Given the description of an element on the screen output the (x, y) to click on. 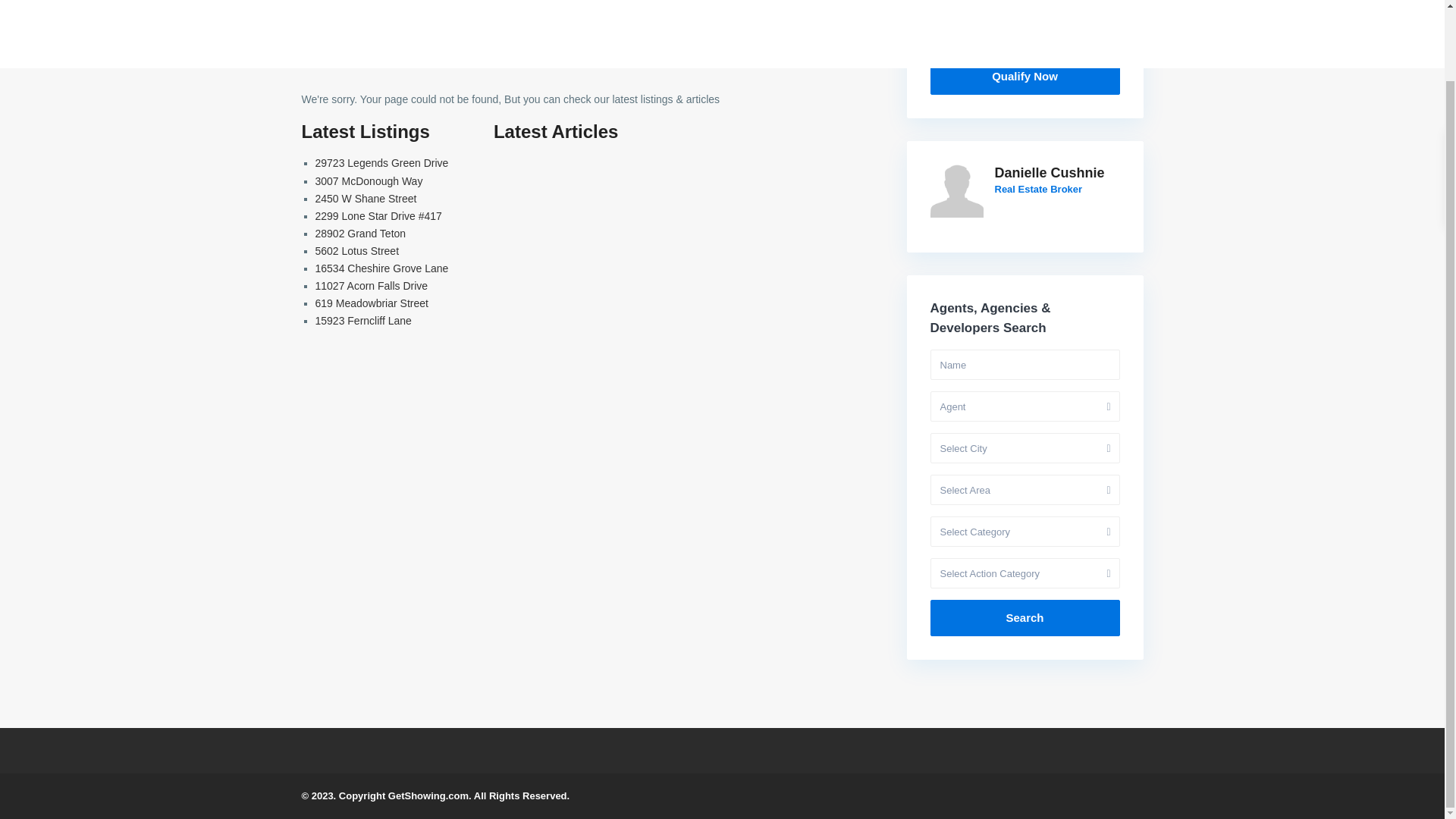
3007 McDonough Way (369, 181)
16534 Cheshire Grove Lane (381, 268)
619 Meadowbriar Street (371, 303)
28902 Grand Teton (360, 233)
29723 Legends Green Drive (381, 162)
5602 Lotus Street (356, 250)
15923 Ferncliff Lane (363, 320)
2450 W Shane Street (365, 198)
11027 Acorn Falls Drive (371, 285)
Search (1024, 617)
